Given the description of an element on the screen output the (x, y) to click on. 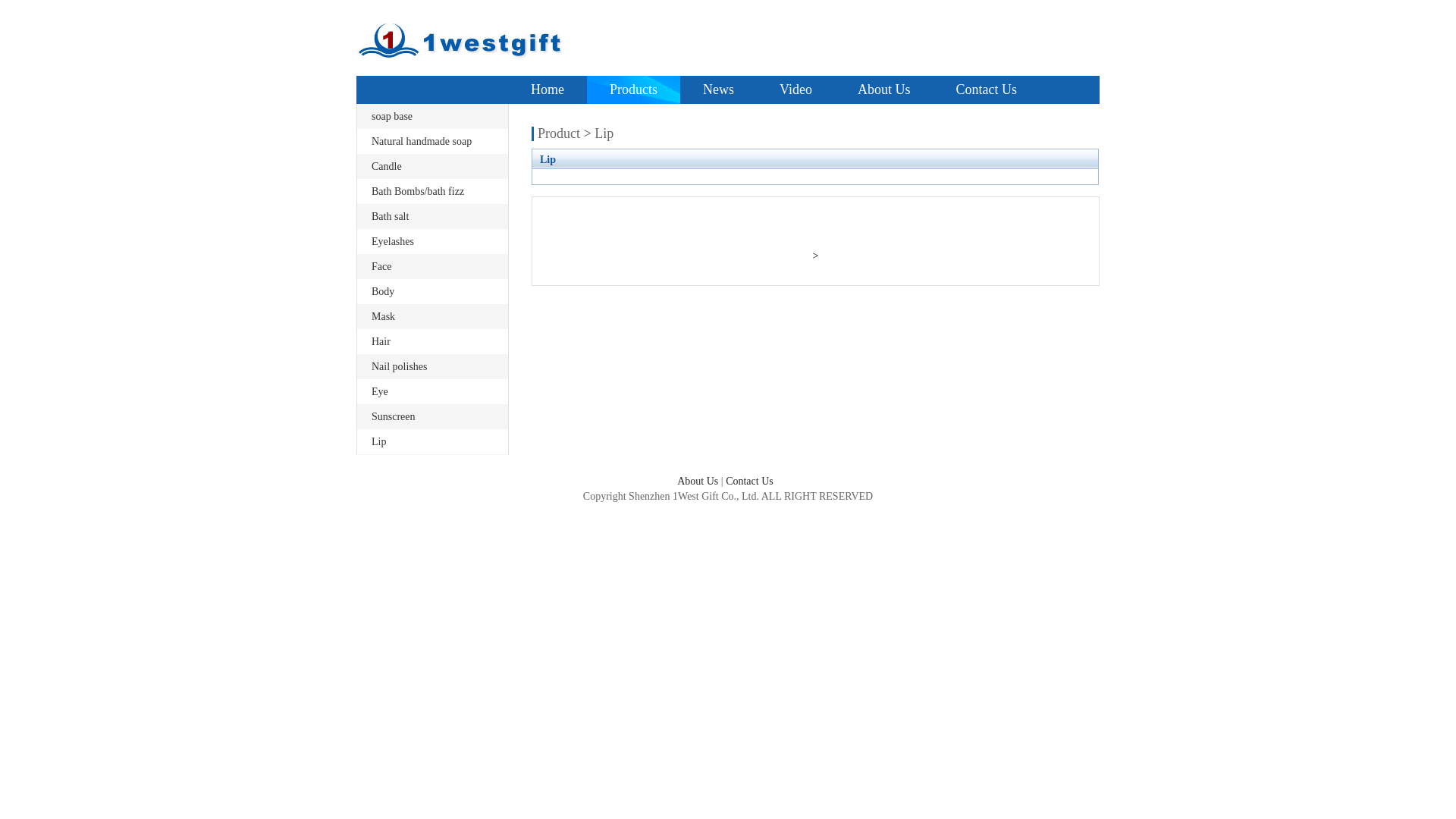
Eye Element type: text (379, 391)
Candle Element type: text (386, 166)
News Element type: text (718, 89)
soap base Element type: text (391, 116)
Bath Bombs/bath fizz Element type: text (417, 191)
About Us Element type: text (697, 480)
Products Element type: text (633, 89)
Mask Element type: text (383, 316)
Nail polishes Element type: text (399, 366)
Face Element type: text (381, 266)
Video Element type: text (795, 89)
Home Element type: text (547, 89)
Sunscreen Element type: text (393, 416)
Product Element type: text (558, 133)
Lip Element type: text (378, 441)
Body Element type: text (382, 291)
Natural handmade soap Element type: text (421, 141)
Eyelashes Element type: text (392, 241)
Lip Element type: text (603, 133)
Contact Us Element type: text (749, 480)
About Us Element type: text (883, 89)
Bath salt Element type: text (389, 216)
Contact Us Element type: text (985, 89)
Hair Element type: text (380, 341)
